Given the description of an element on the screen output the (x, y) to click on. 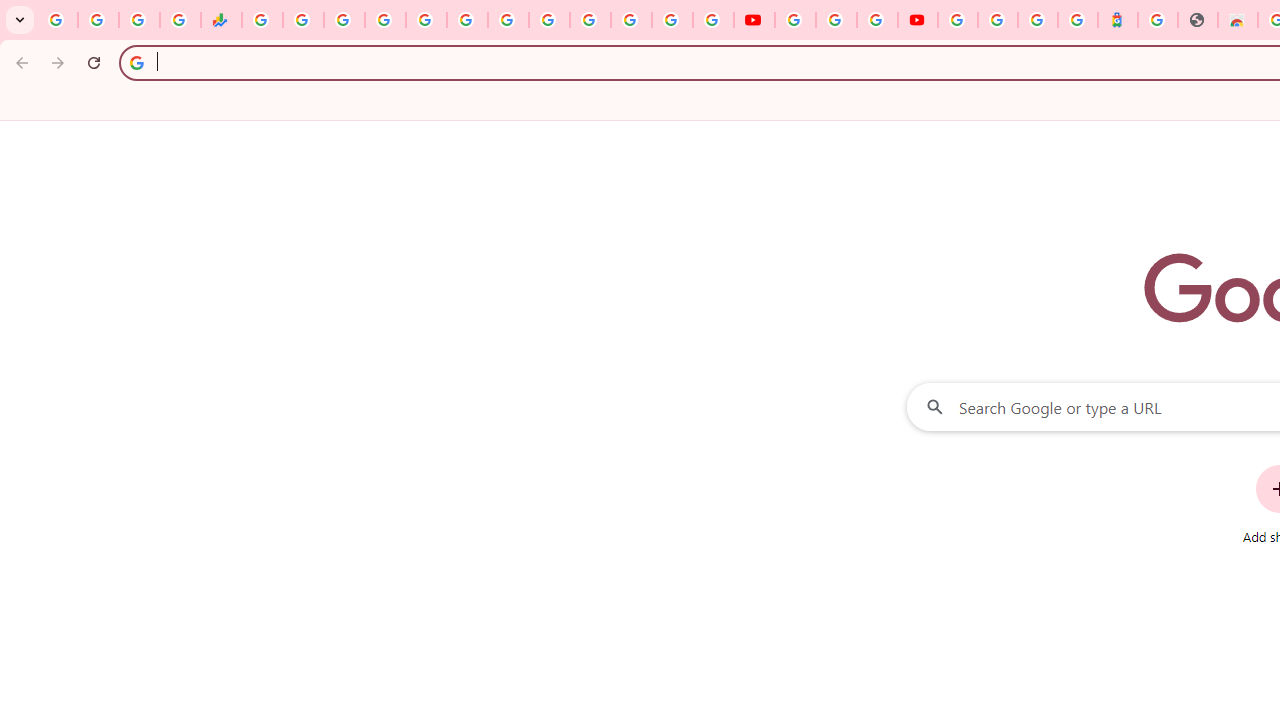
Content Creator Programs & Opportunities - YouTube Creators (918, 20)
